Given the description of an element on the screen output the (x, y) to click on. 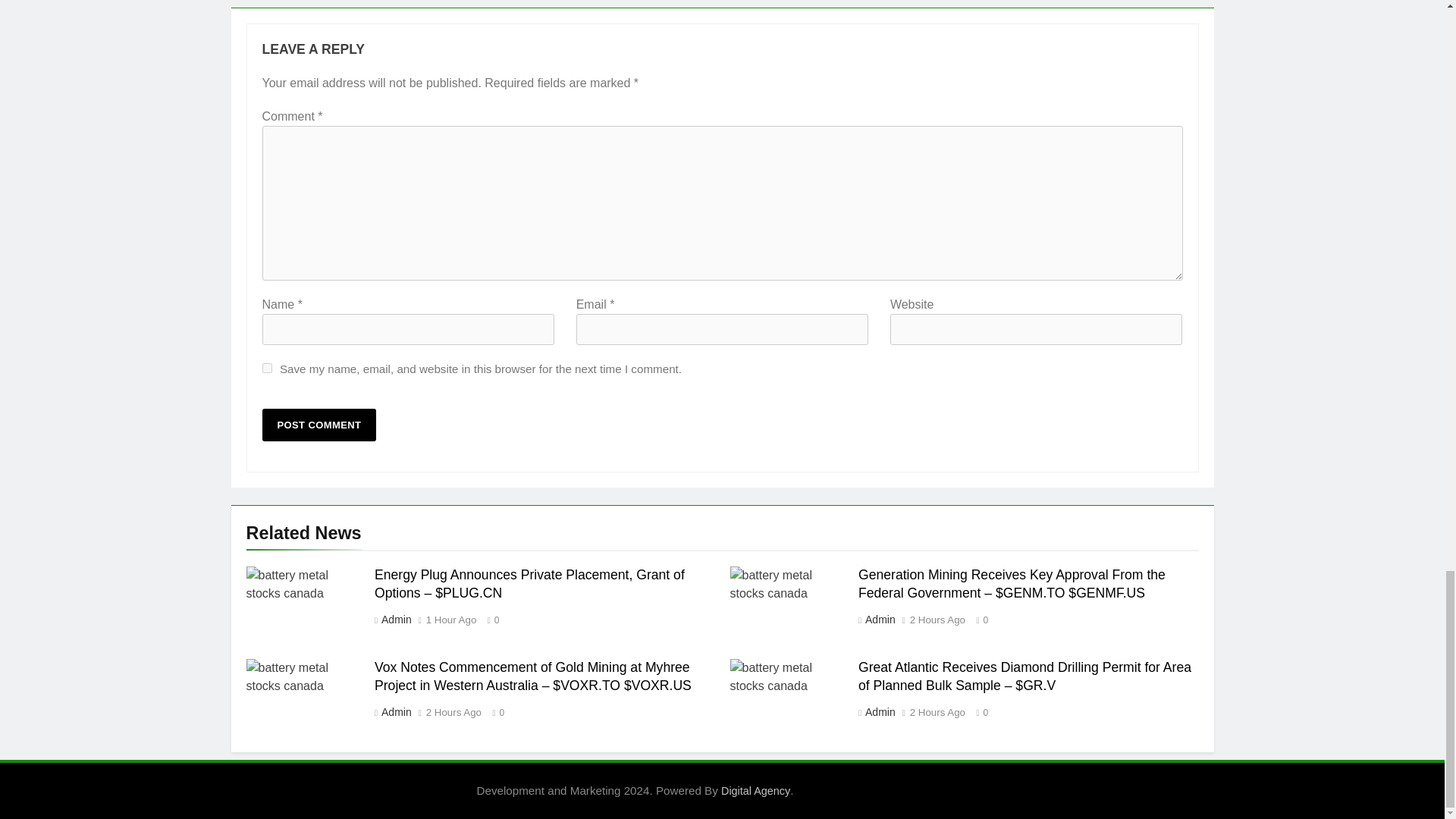
Post Comment (319, 424)
yes (267, 368)
